Given the description of an element on the screen output the (x, y) to click on. 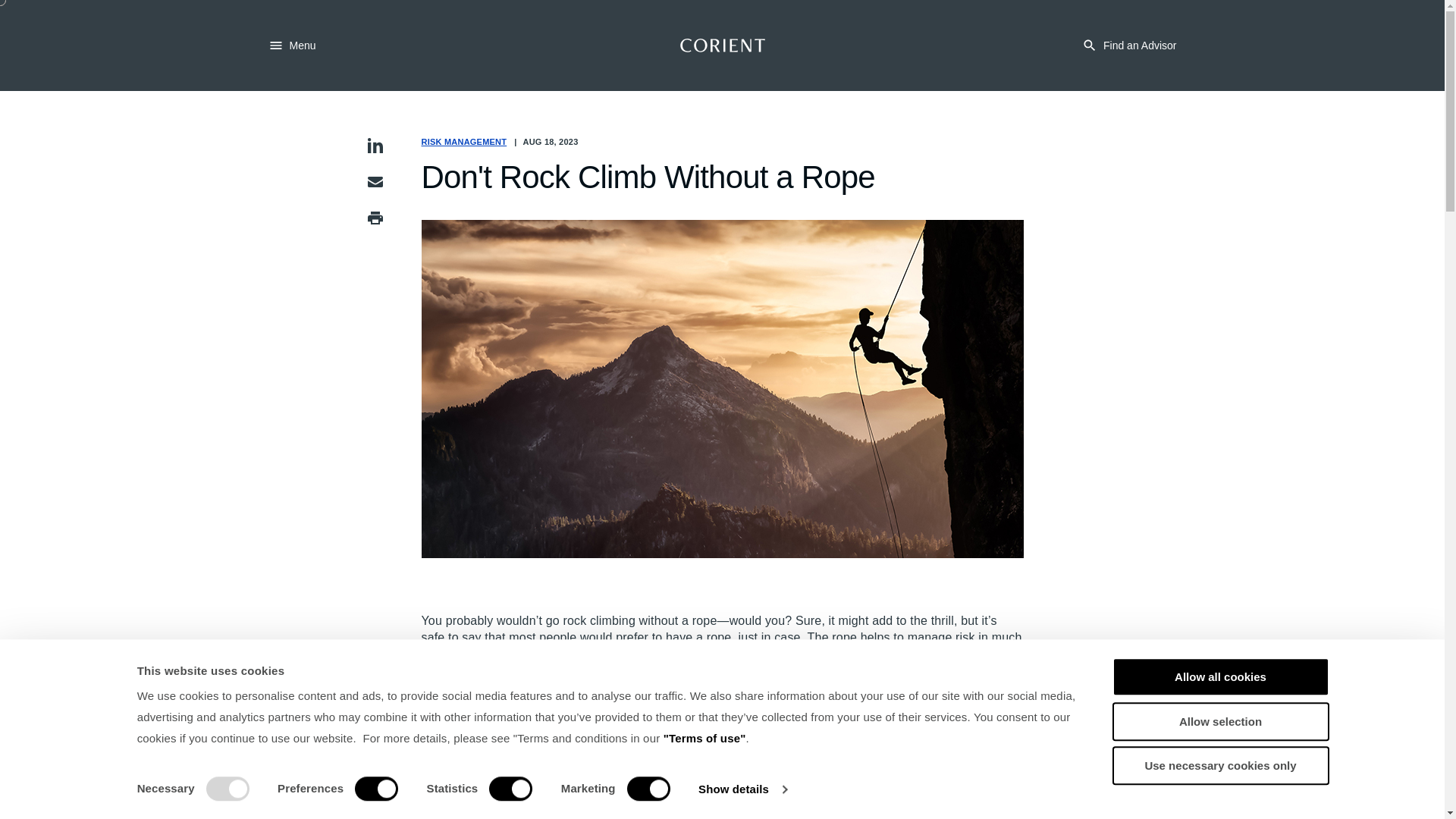
"Terms of use" (704, 738)
Show details (742, 789)
Risk Management (464, 141)
